Given the description of an element on the screen output the (x, y) to click on. 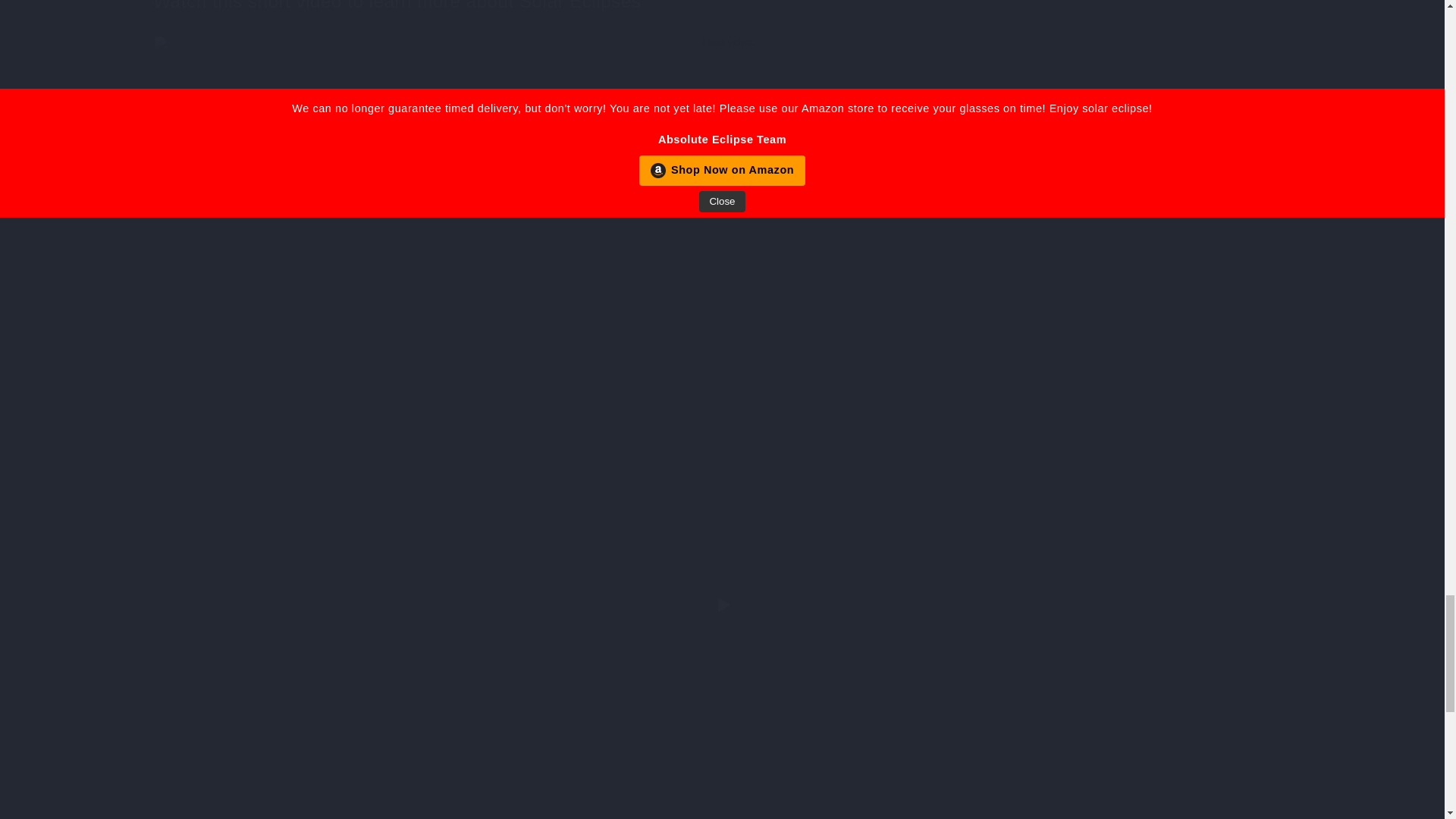
Watch this short video to learn more about Solar Eclipses (721, 6)
